Given the description of an element on the screen output the (x, y) to click on. 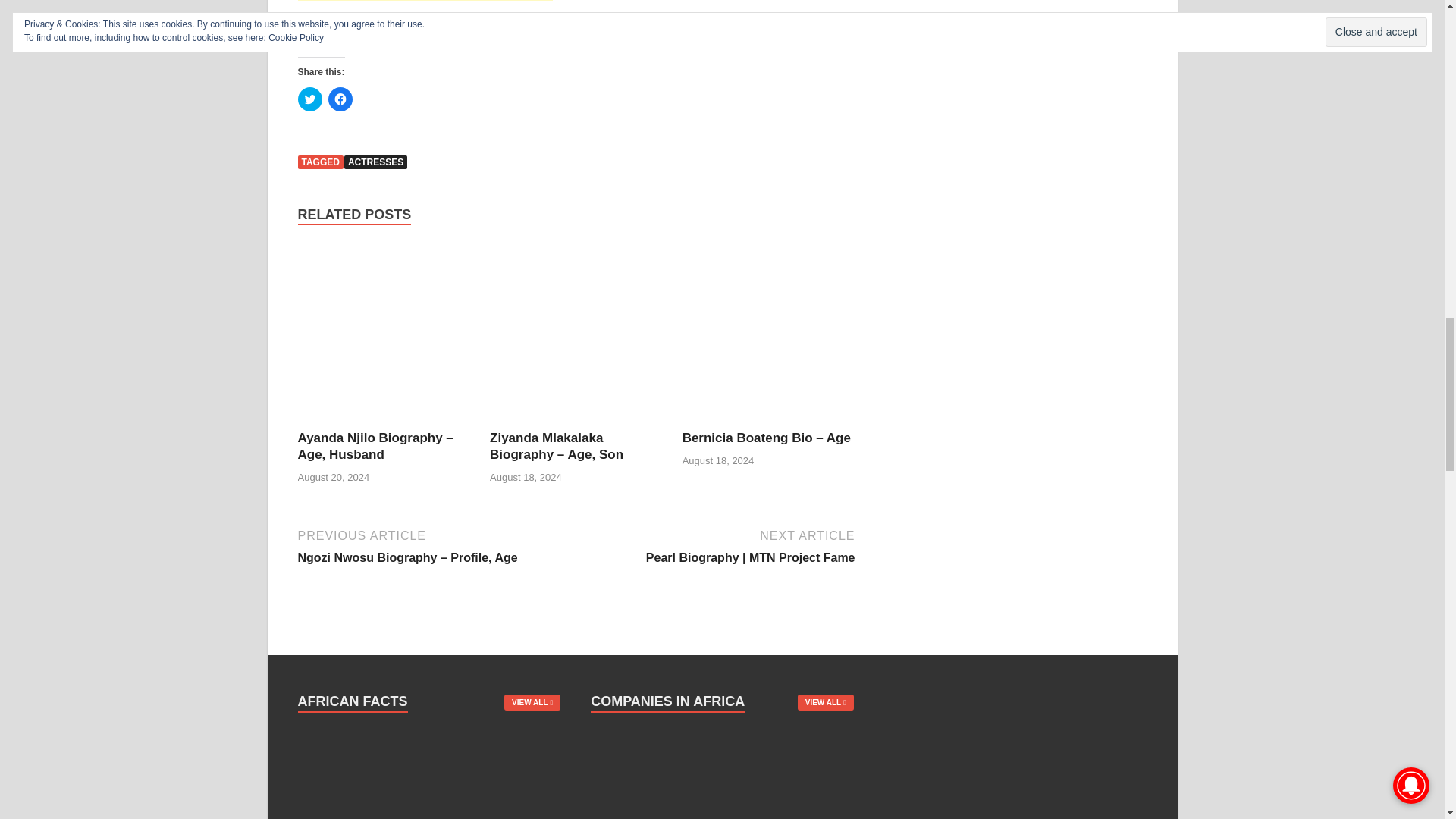
Youtube Channel (392, 21)
Click to share on Facebook (339, 98)
Whatsapp Channel (561, 41)
Click to share on Twitter (309, 98)
